Given the description of an element on the screen output the (x, y) to click on. 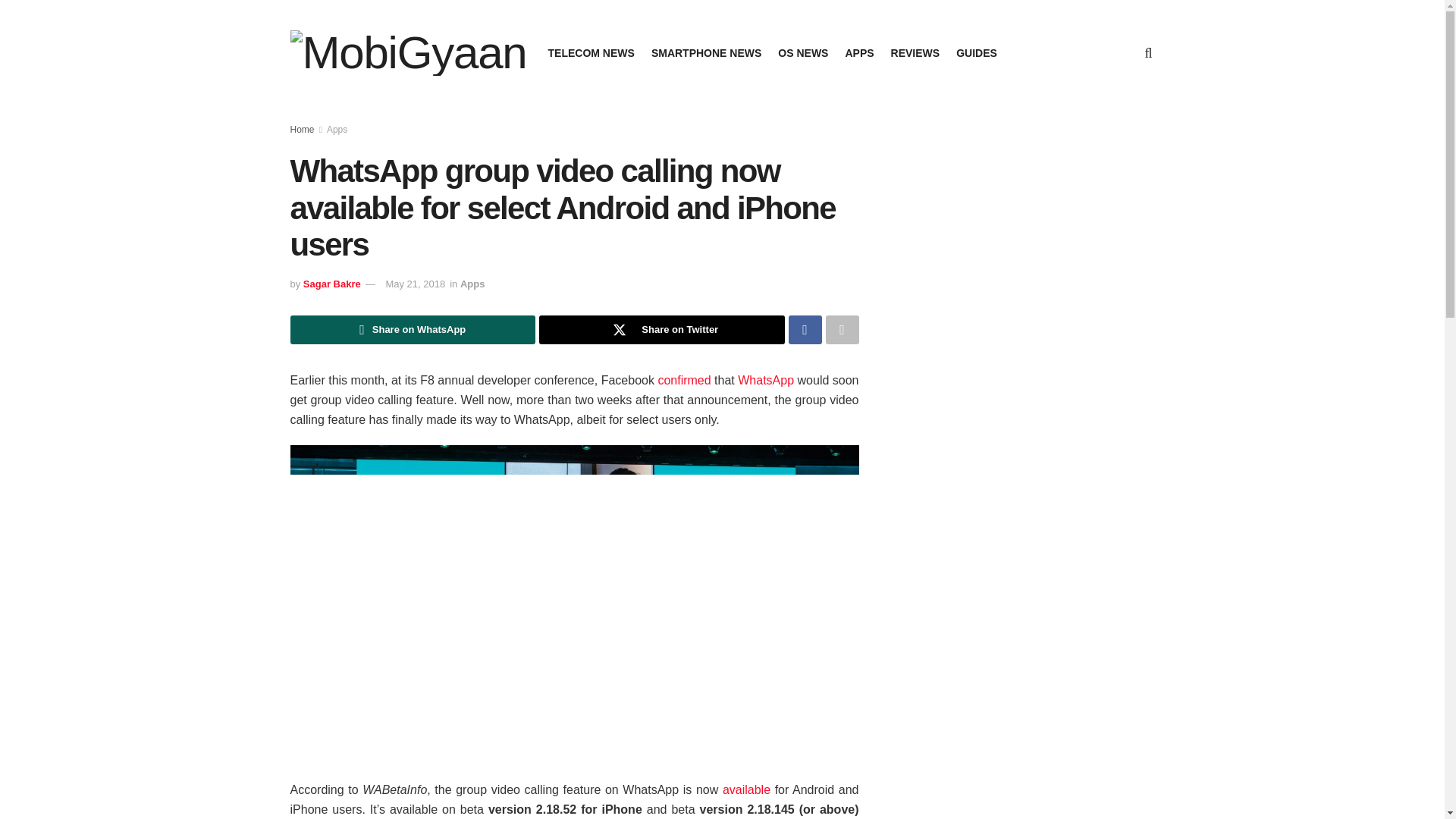
SMARTPHONE NEWS (705, 52)
Sagar Bakre (331, 283)
APPS (858, 52)
confirmed (684, 379)
Home (301, 129)
OS NEWS (802, 52)
TELECOM NEWS (591, 52)
Apps (472, 283)
WhatsApp (765, 379)
